Given the description of an element on the screen output the (x, y) to click on. 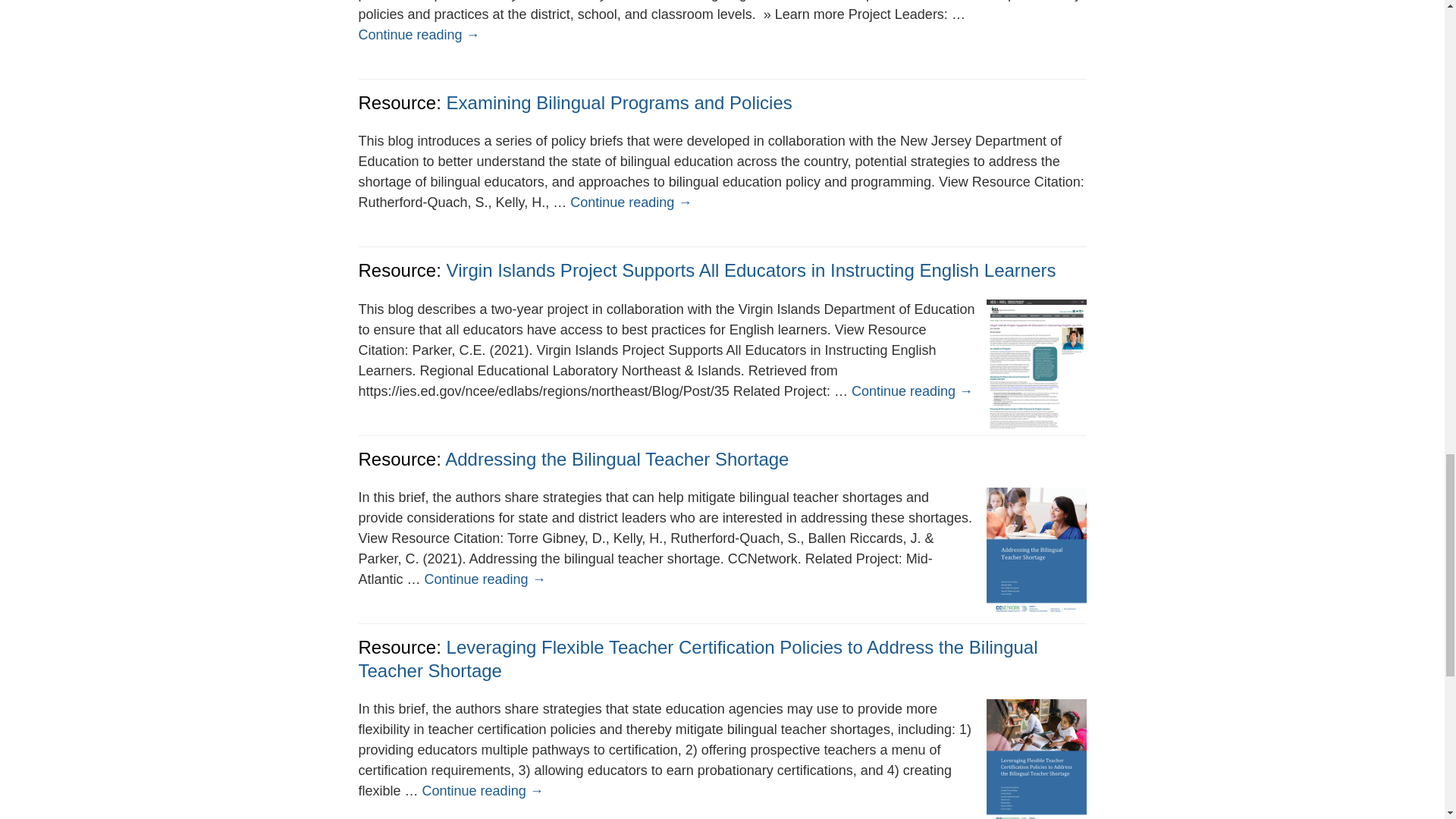
Examining Bilingual Programs and Policies (619, 102)
Addressing the Bilingual Teacher Shortage (617, 458)
